Given the description of an element on the screen output the (x, y) to click on. 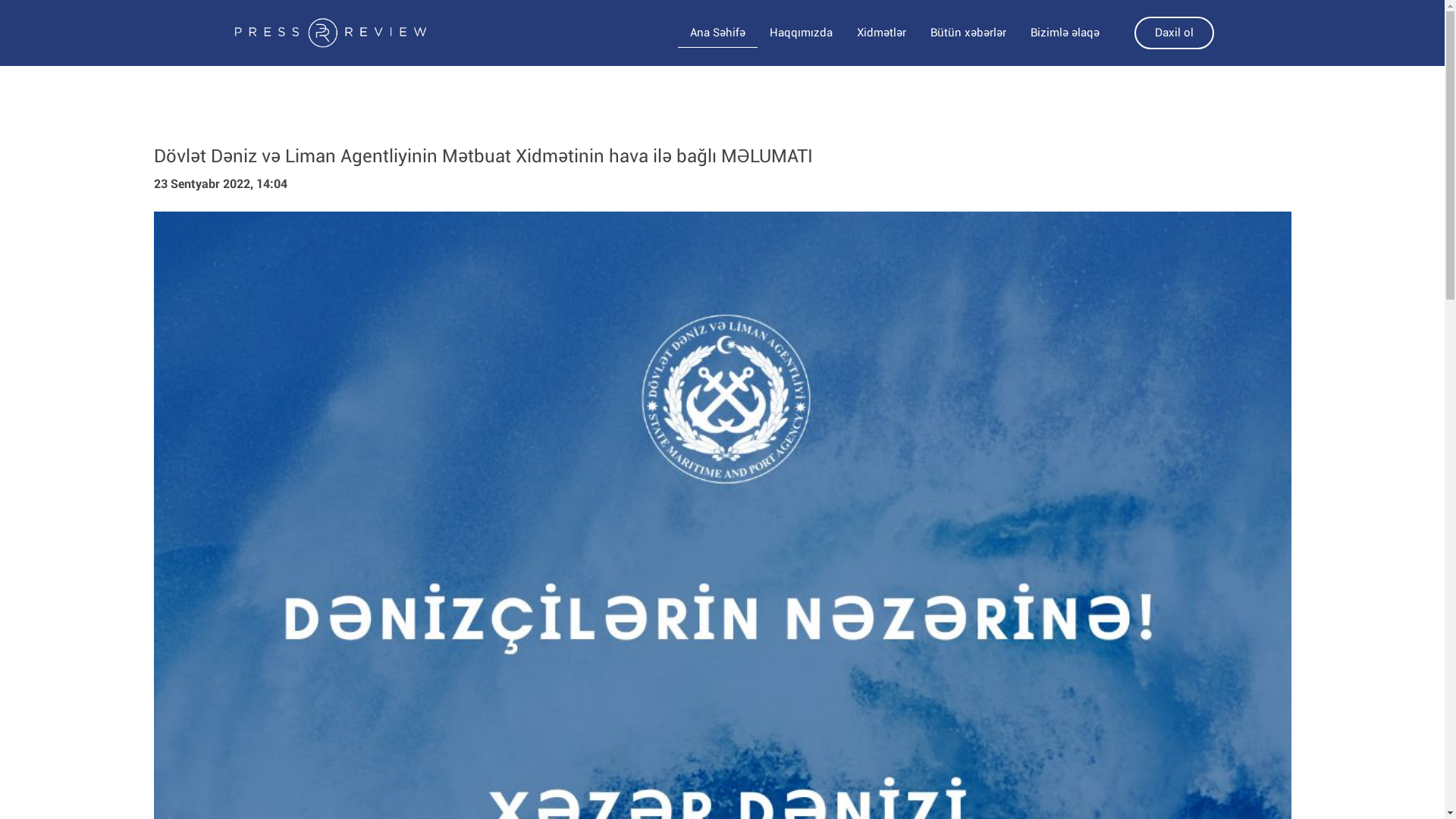
Daxil ol Element type: text (1174, 32)
